Given the description of an element on the screen output the (x, y) to click on. 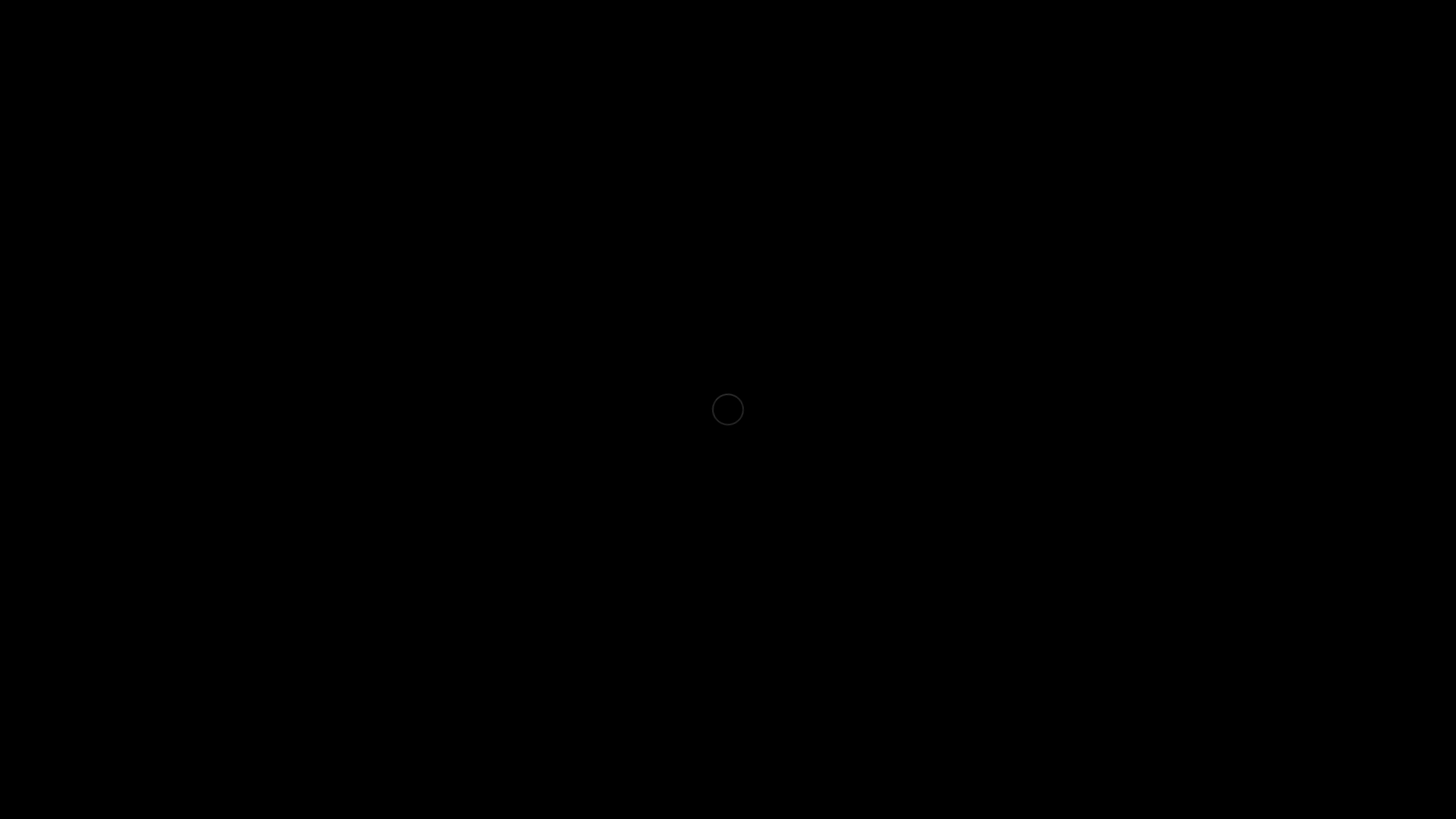
Shop Element type: text (1010, 34)
LATEST Element type: text (1317, 773)
TRANSFORMATIONS Element type: text (1245, 773)
Services Element type: text (947, 34)
Contact Element type: text (1228, 34)
Latest Element type: text (1171, 34)
Transformations Element type: text (1091, 34)
TERMS & CONDITIONS Element type: text (1391, 773)
Coaching Login Element type: text (1316, 34)
